Given the description of an element on the screen output the (x, y) to click on. 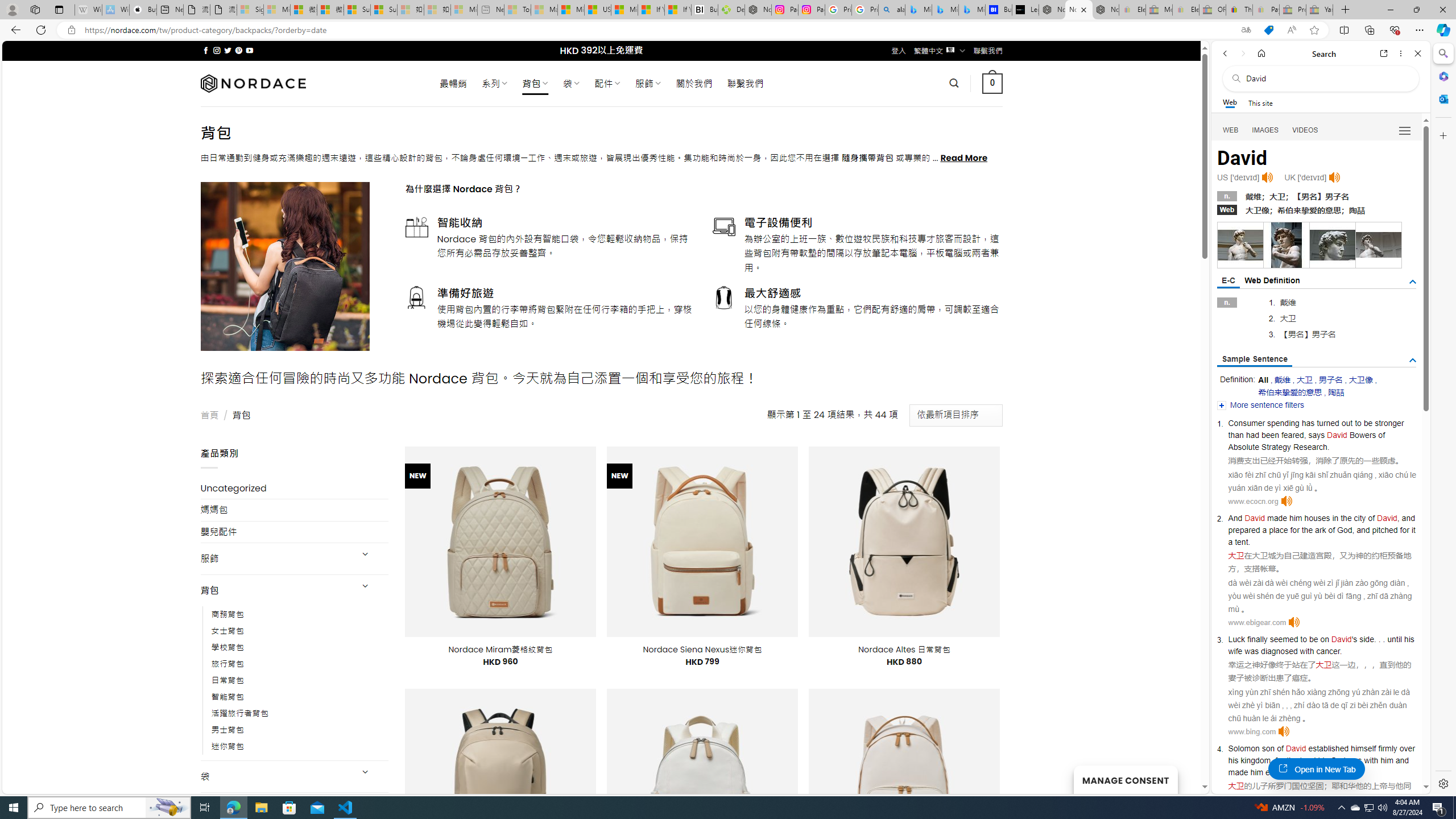
Threats and offensive language policy | eBay (1239, 9)
Microsoft account | Account Checkup - Sleeping (463, 9)
Web scope (1230, 102)
had (1251, 434)
